Given the description of an element on the screen output the (x, y) to click on. 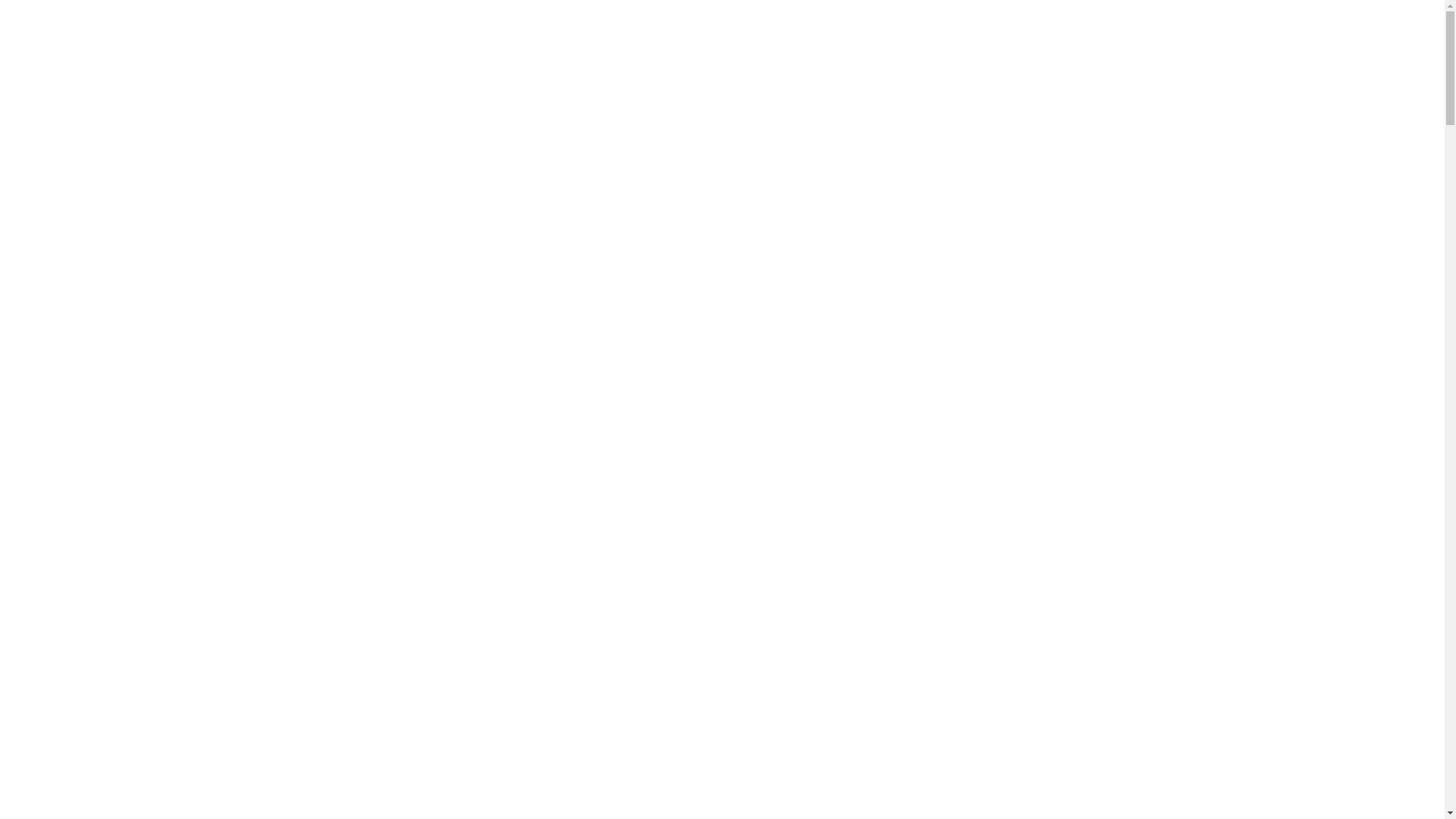
Christmas Element type: text (364, 503)
Portsmouth Events Element type: text (390, 630)
Job Fairs Element type: text (359, 575)
Happy Hour Element type: text (369, 557)
Thanksgiving Element type: text (372, 648)
Media Element type: text (352, 594)
All Events Element type: text (362, 484)
Easter Element type: text (353, 521)
Mother's Day Element type: text (373, 612)
Fourth of July Element type: text (373, 539)
